Given the description of an element on the screen output the (x, y) to click on. 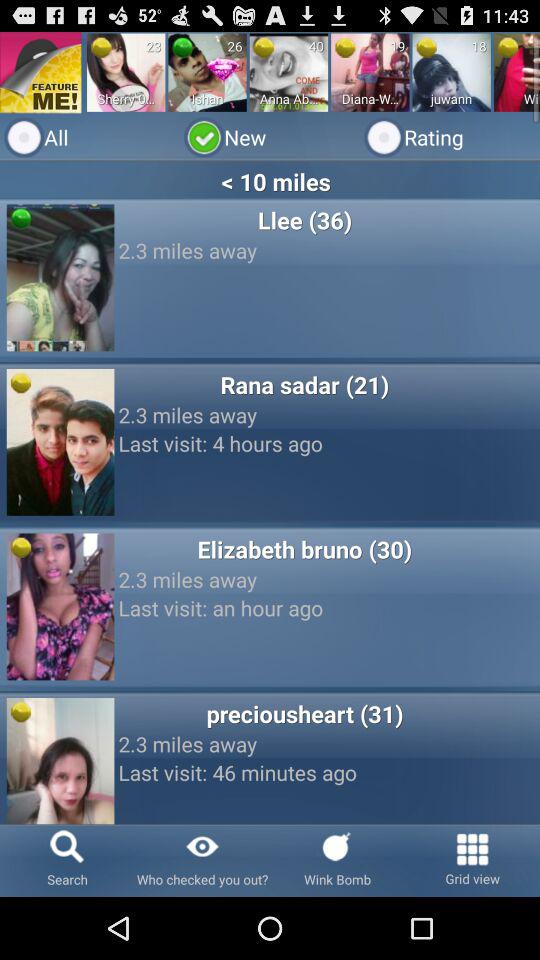
open the icon to the right of the search (202, 860)
